Given the description of an element on the screen output the (x, y) to click on. 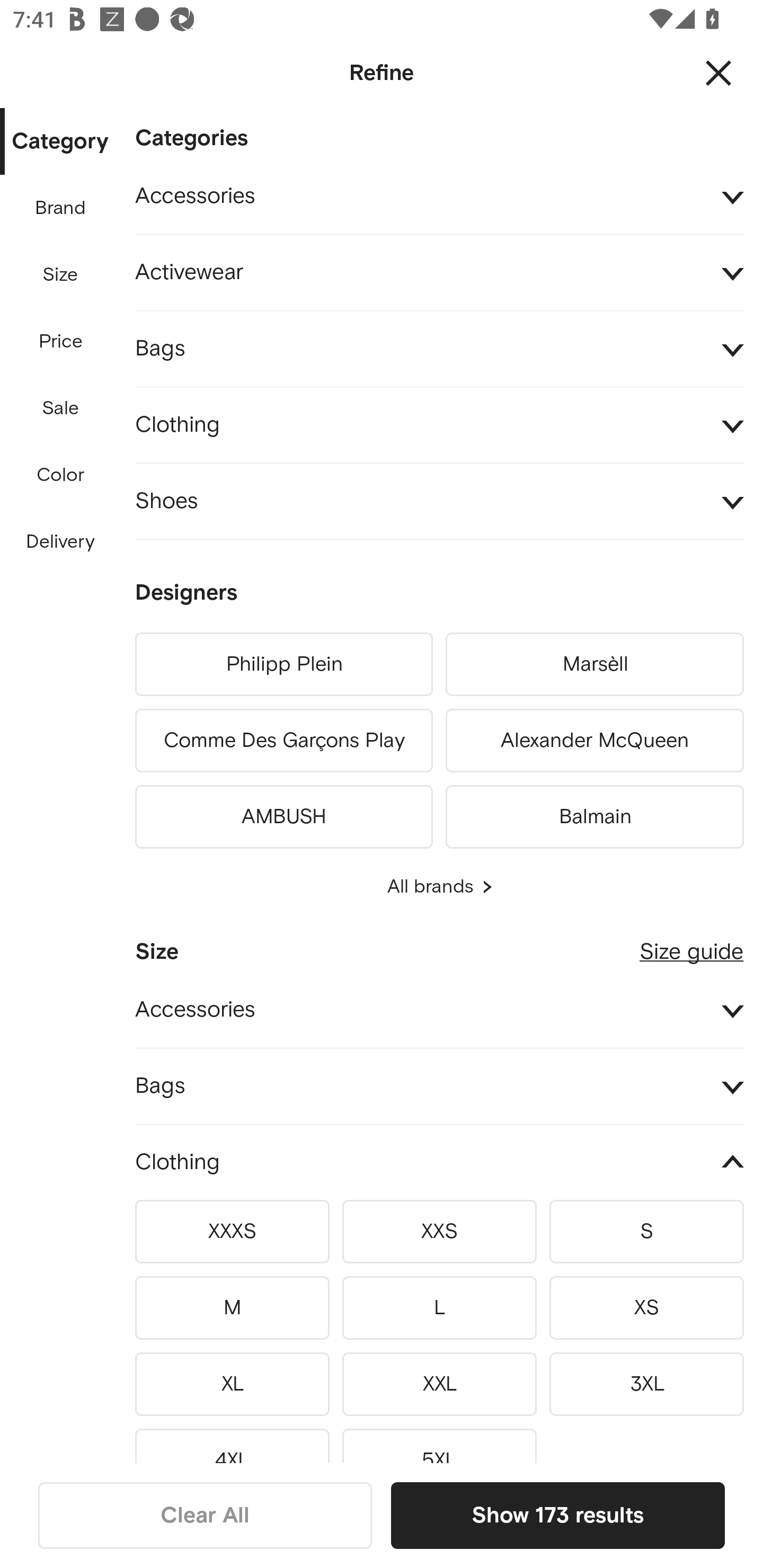
Category (60, 141)
Accessories (439, 196)
Brand (60, 208)
Activewear (439, 272)
Size (60, 274)
Price (60, 342)
Bags (439, 348)
Sale (60, 408)
Clothing (439, 425)
Color (60, 475)
Shoes (439, 501)
Delivery (60, 542)
Philipp Plein (283, 663)
Marsèll (594, 663)
Comme Des Garçons Play (283, 740)
Alexander McQueen (594, 740)
AMBUSH (283, 813)
Balmain (594, 813)
All brands (439, 886)
Size guide (691, 944)
Accessories (439, 1010)
Bags (439, 1086)
Clothing (439, 1162)
XXXS (232, 1231)
XXS (439, 1231)
S (646, 1231)
M (232, 1307)
L (439, 1307)
XS (646, 1307)
XL (232, 1383)
XXL (439, 1383)
3XL (646, 1383)
4XL (232, 1442)
5XL (439, 1442)
Clear All (205, 1515)
Show 173 results (557, 1515)
